Given the description of an element on the screen output the (x, y) to click on. 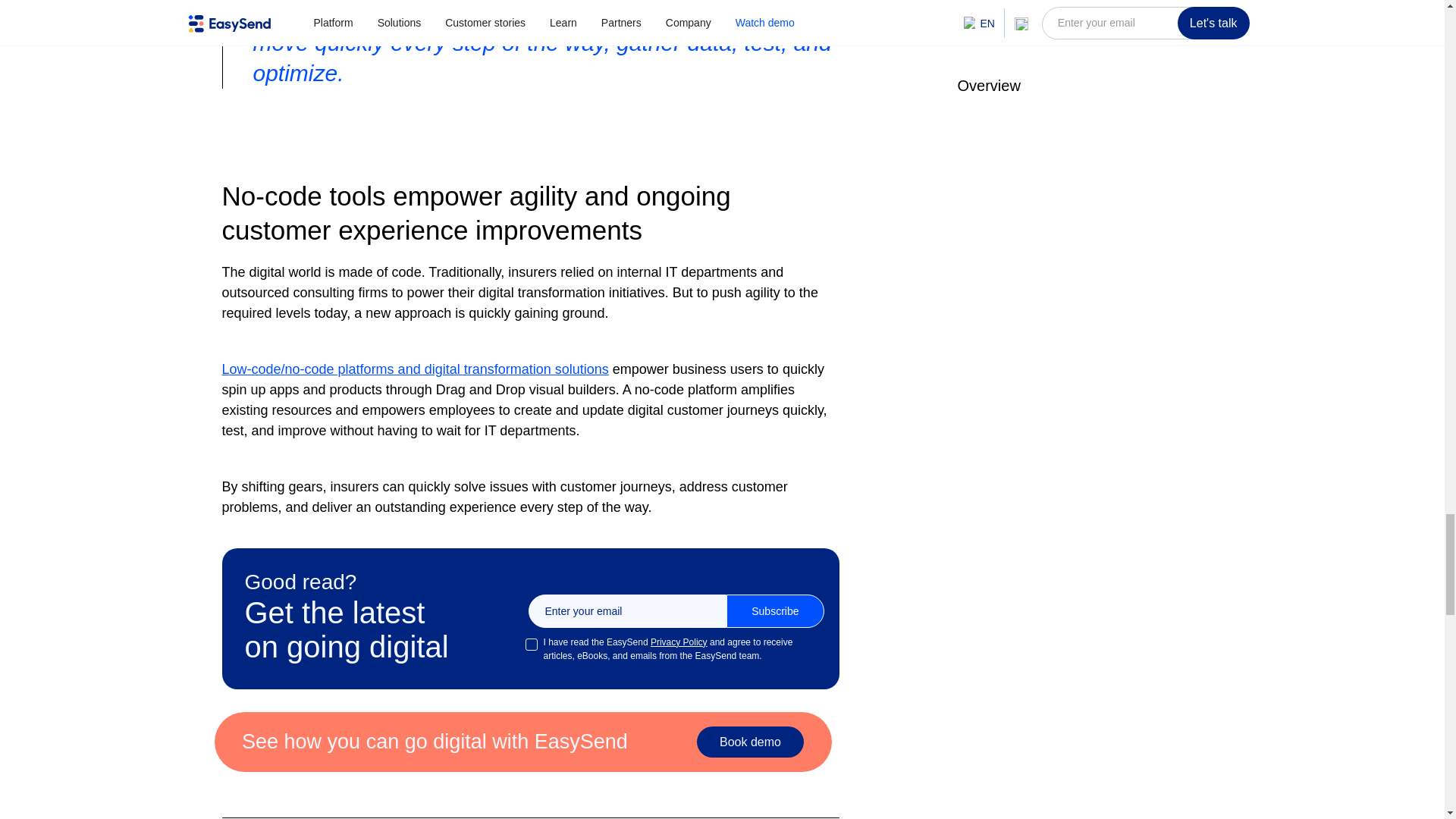
Subscribe (775, 611)
